Given the description of an element on the screen output the (x, y) to click on. 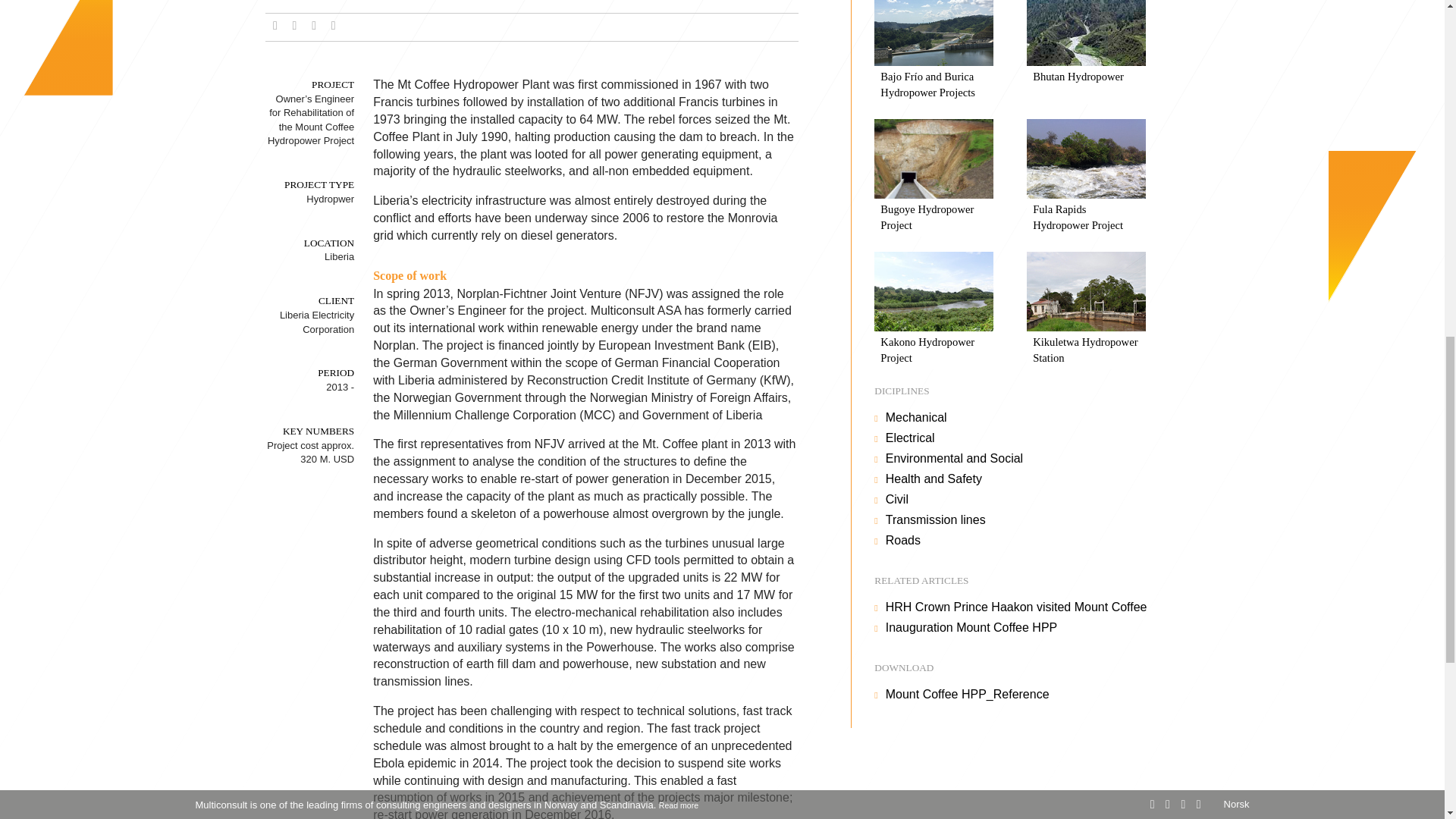
Bugoye Hydropower Project (933, 177)
Kikuletwa Hydropower Station (1085, 310)
Bhutan Hydropower (1085, 52)
Kakono Hydropower Project (933, 310)
Fula Rapids Hydropower Project (1085, 177)
